Given the description of an element on the screen output the (x, y) to click on. 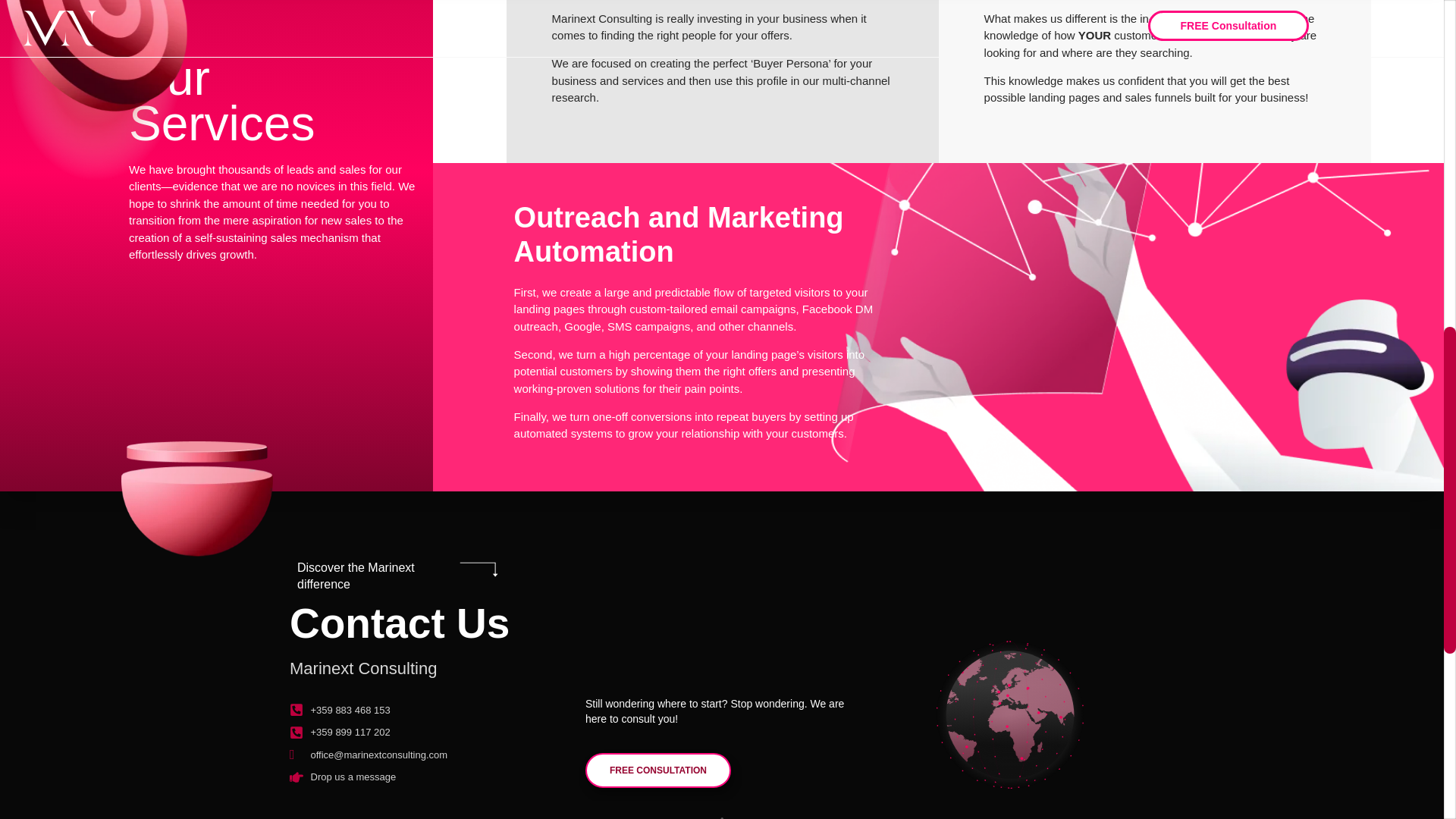
FREE CONSULTATION (657, 769)
Drop us a message (433, 776)
